Given the description of an element on the screen output the (x, y) to click on. 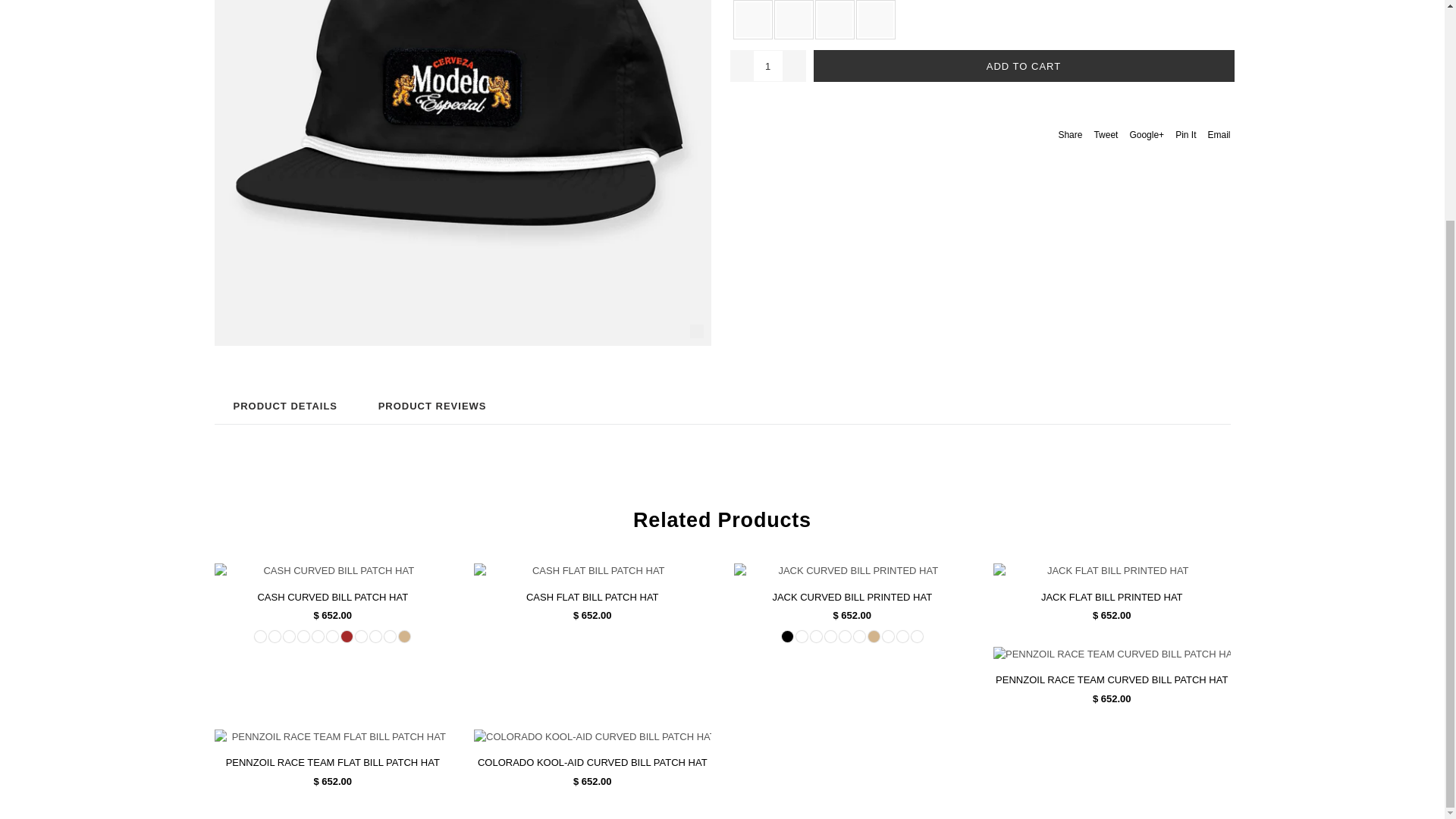
Dark Green Camo (318, 636)
1 (767, 65)
Black (752, 19)
Black-Yellow Captain (289, 636)
Texas Orange (275, 636)
Black-White Captain (260, 636)
Share by Email (1218, 134)
Brown (346, 636)
White (793, 19)
Red-White (303, 636)
